Given the description of an element on the screen output the (x, y) to click on. 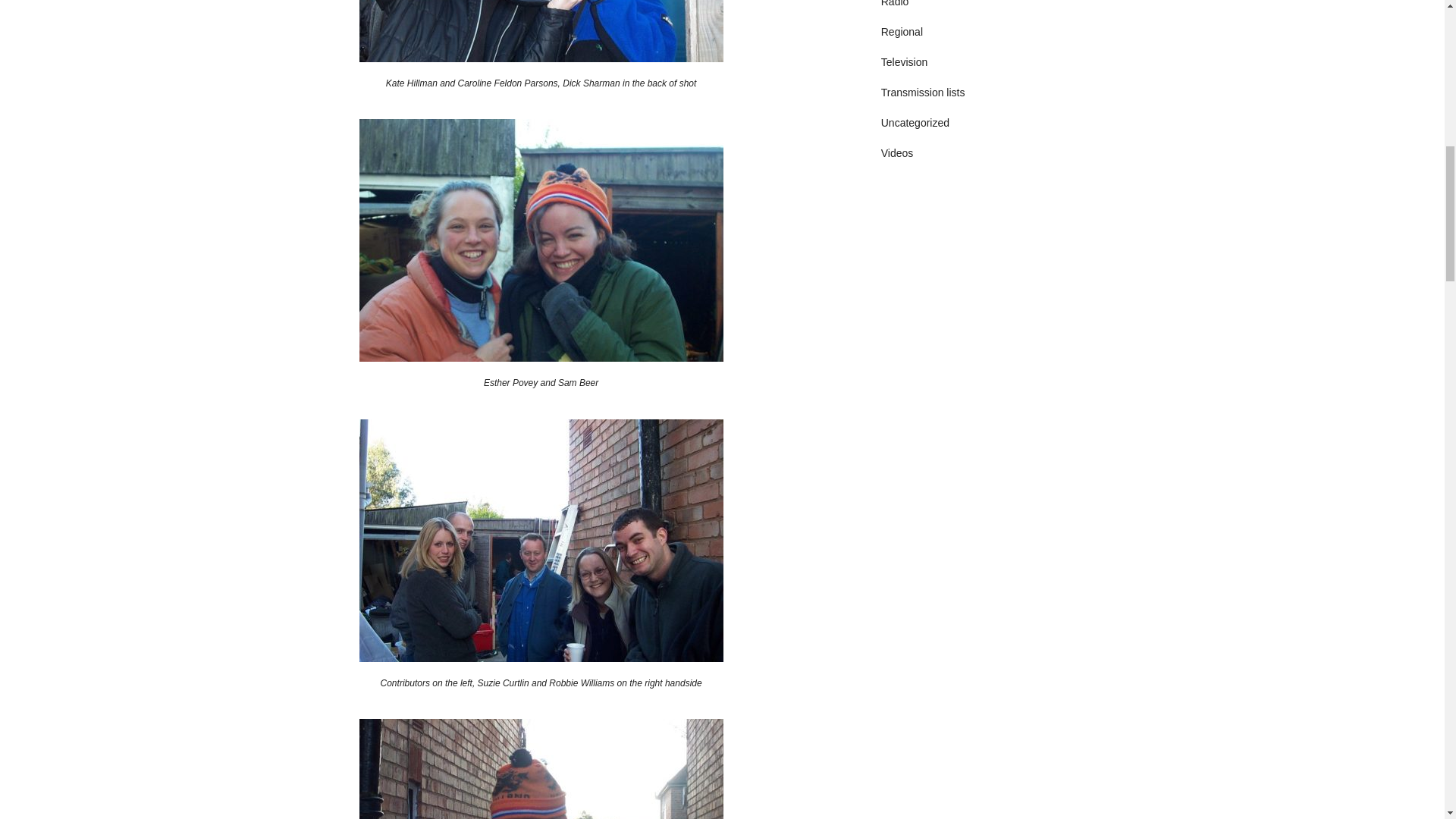
Uncategorized (914, 122)
Videos (897, 152)
Transmission lists (922, 92)
Regional (901, 31)
Radio (894, 3)
Television (903, 61)
